Given the description of an element on the screen output the (x, y) to click on. 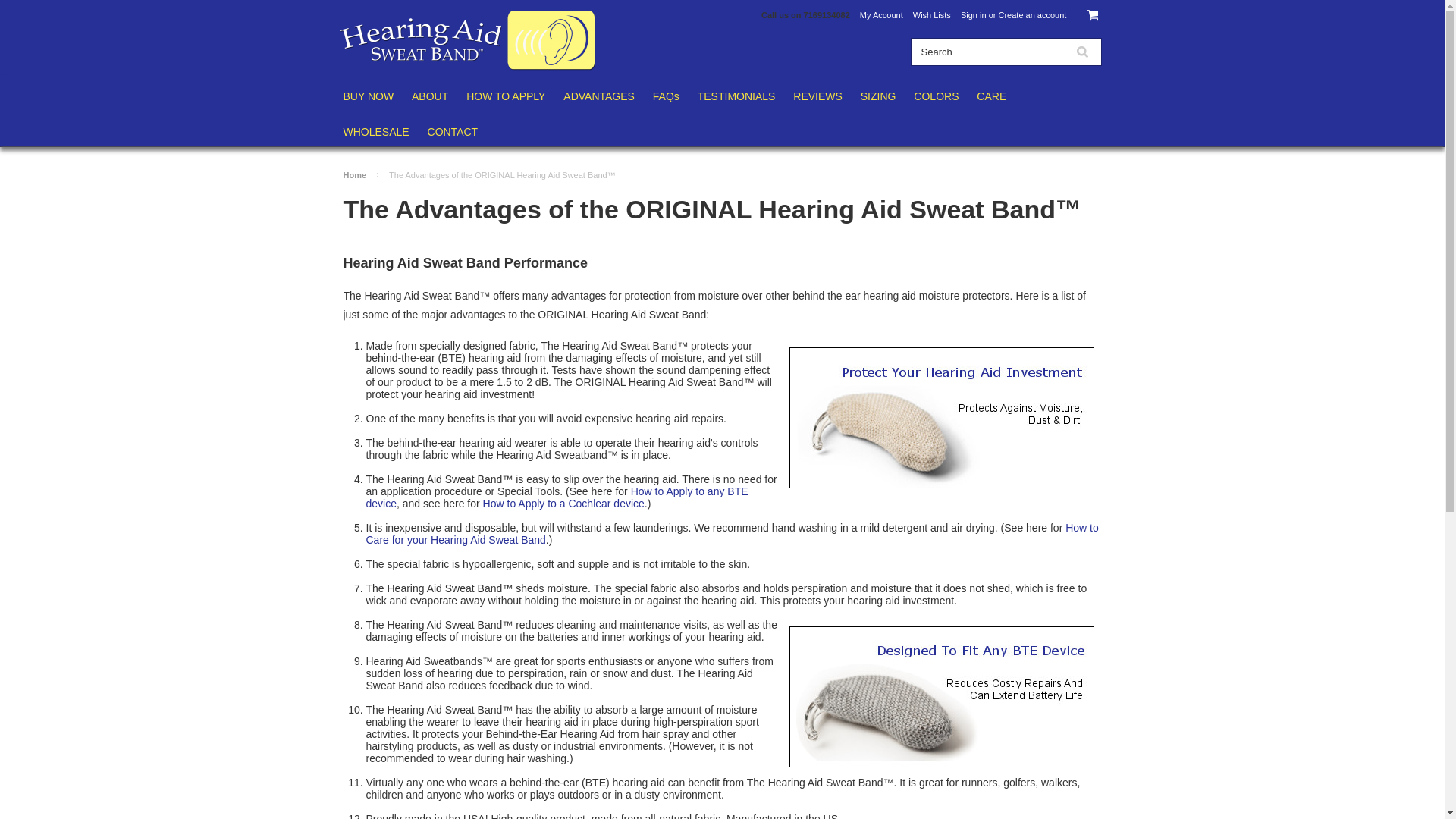
Search (1081, 51)
Search (986, 51)
How to Care for your Hearing Aid Sweat Band (731, 533)
My Account (881, 14)
Wish Lists (931, 14)
